Given the description of an element on the screen output the (x, y) to click on. 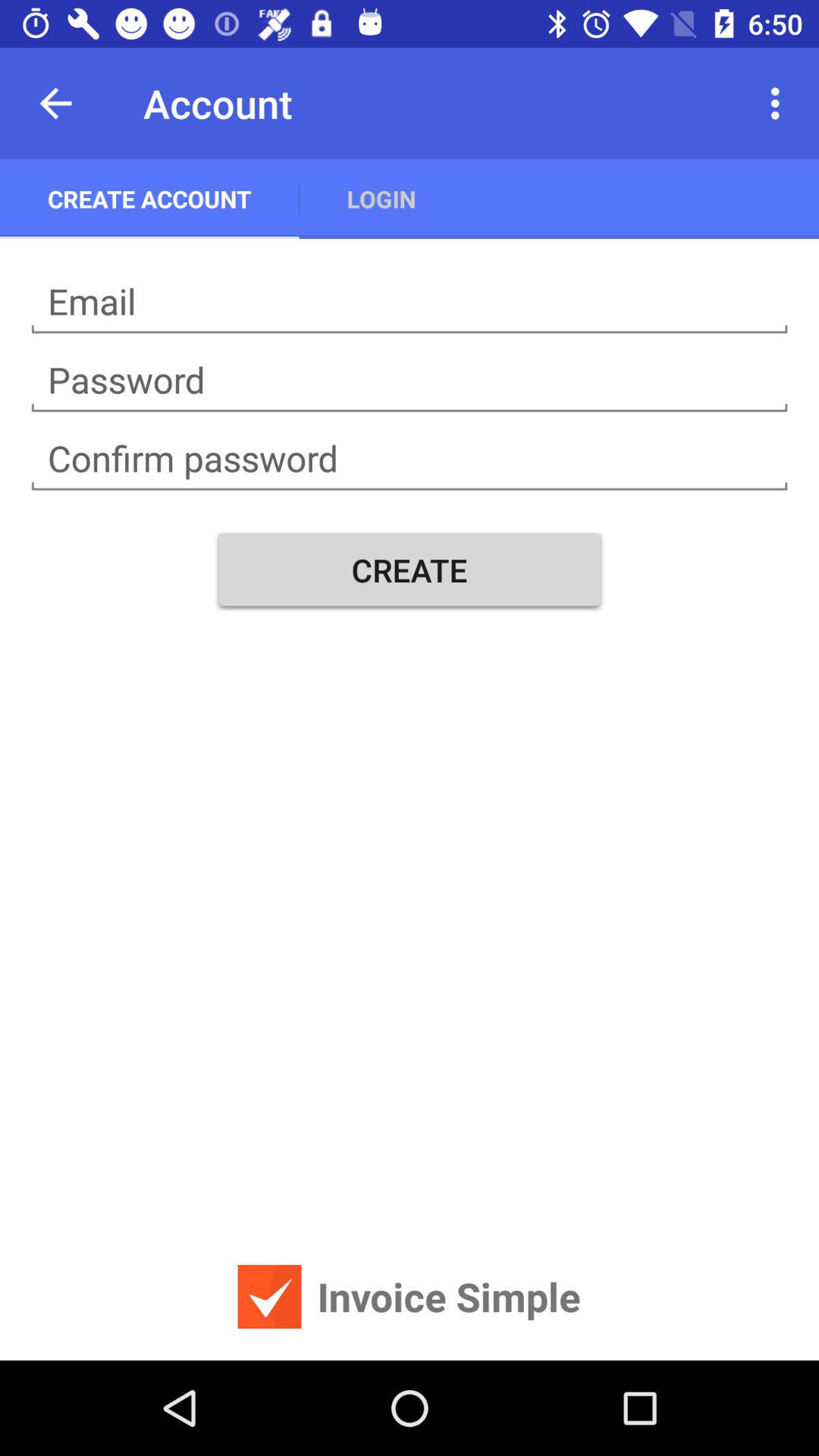
enter the password box (409, 380)
